Given the description of an element on the screen output the (x, y) to click on. 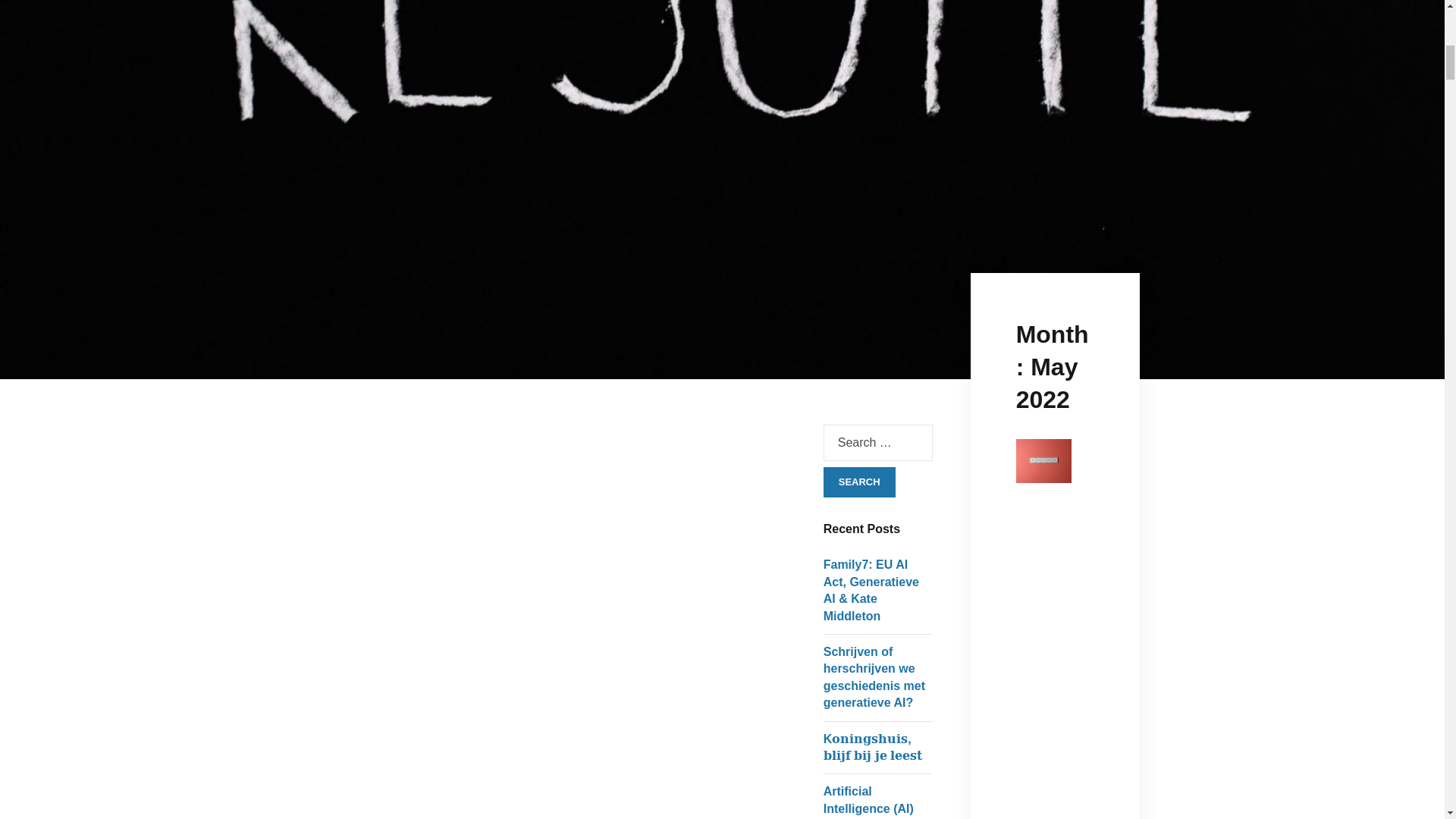
Search (859, 481)
Search (859, 481)
Search (859, 481)
